Given the description of an element on the screen output the (x, y) to click on. 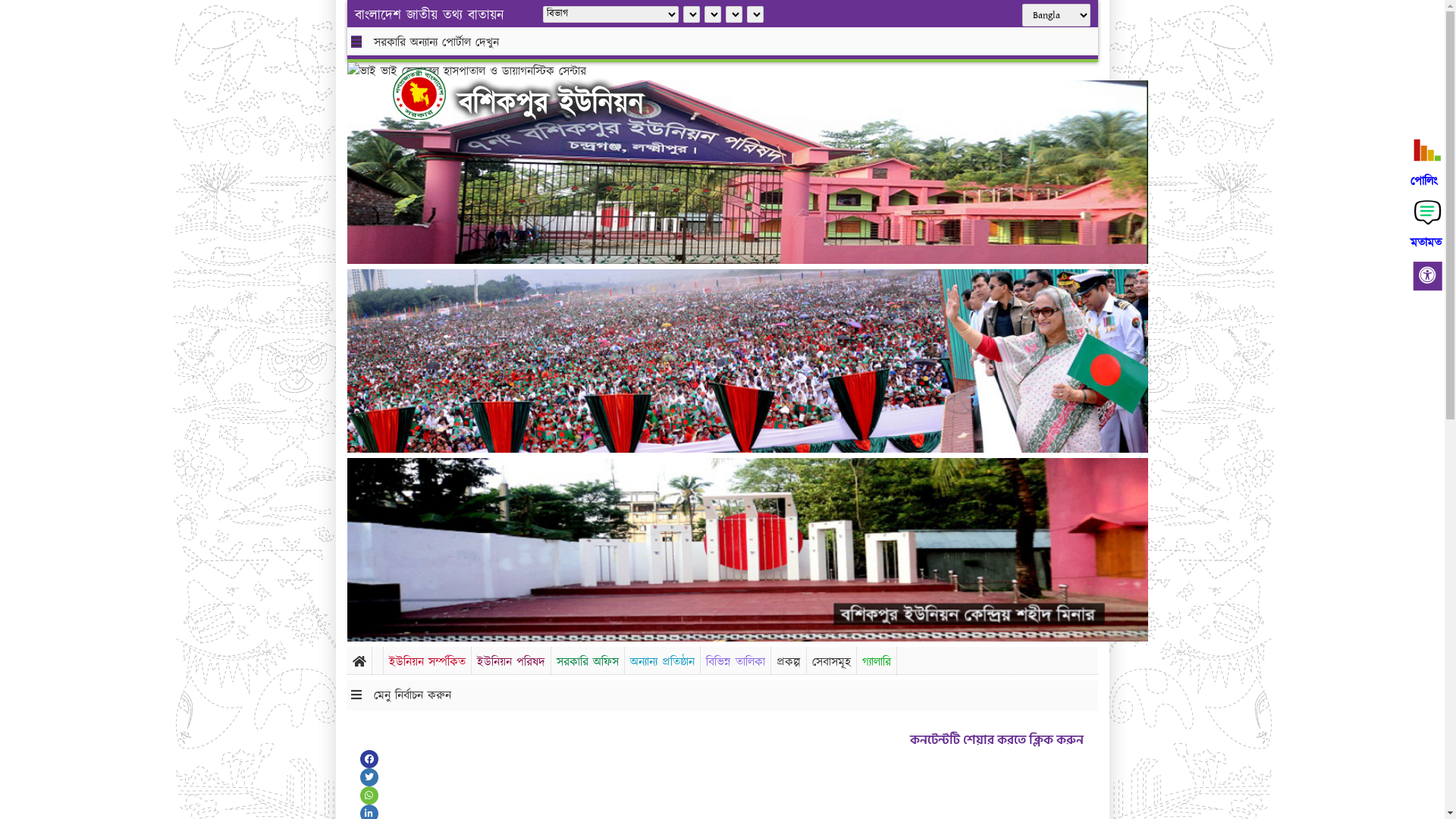

                
             Element type: hover (430, 93)
